Given the description of an element on the screen output the (x, y) to click on. 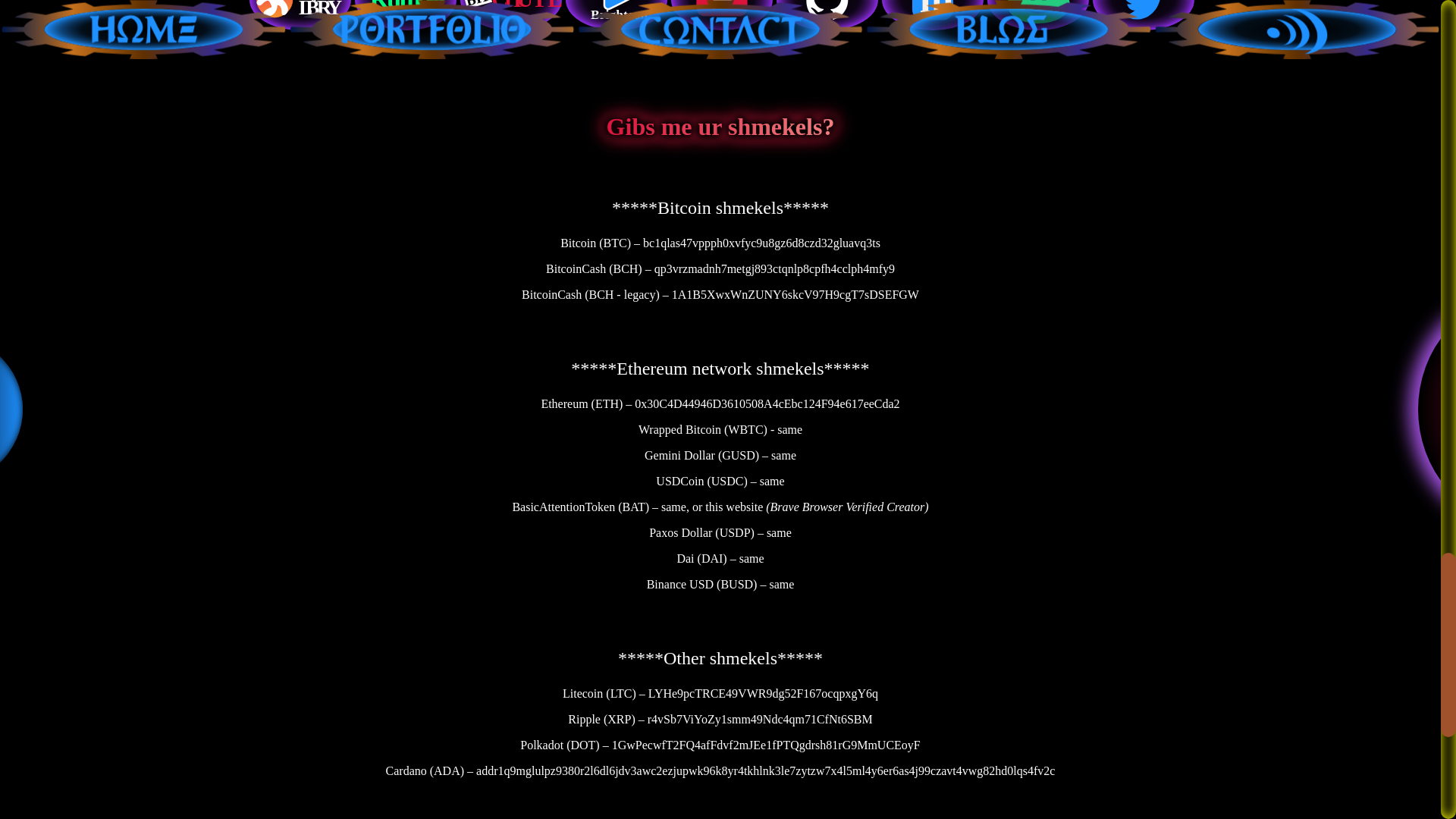
YouTube channel YouTube channel (721, 17)
Bitchute channel Bitchute channel (511, 17)
Rumble channel Rumble channel (406, 17)
Brighteon channel Brighteon channel (617, 17)
Twitter Account Twitter Account (1142, 17)
Gab Account Gab Account (1038, 17)
Github Github (827, 17)
